Given the description of an element on the screen output the (x, y) to click on. 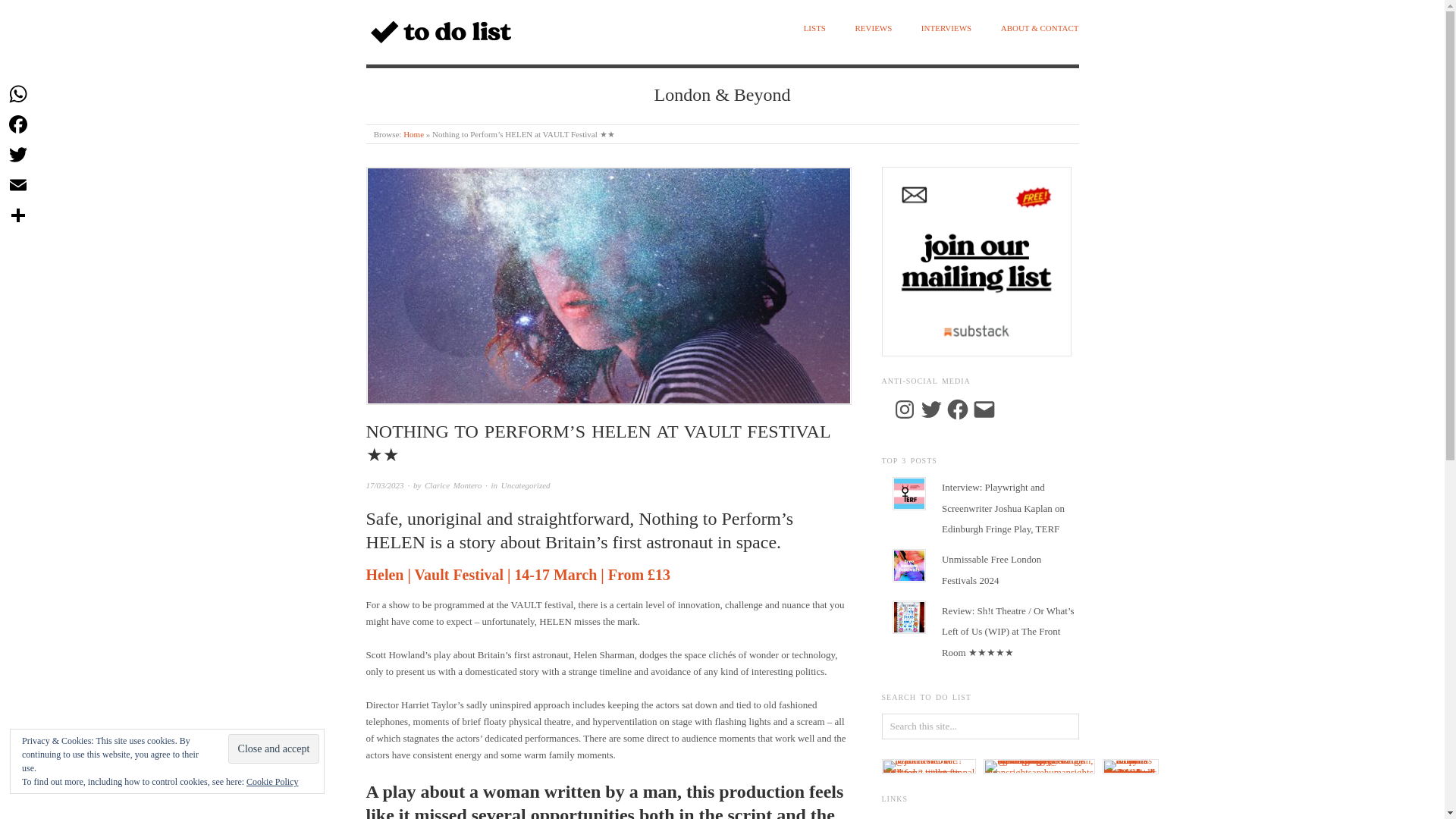
INTERVIEWS (946, 28)
TO DO LIST (422, 75)
REVIEWS (872, 28)
To Do List (413, 133)
Search this site... (979, 726)
Uncategorized (525, 484)
Interviews (946, 28)
Posts by Clarice Montero (453, 484)
Close and accept (274, 748)
Home (413, 133)
